Given the description of an element on the screen output the (x, y) to click on. 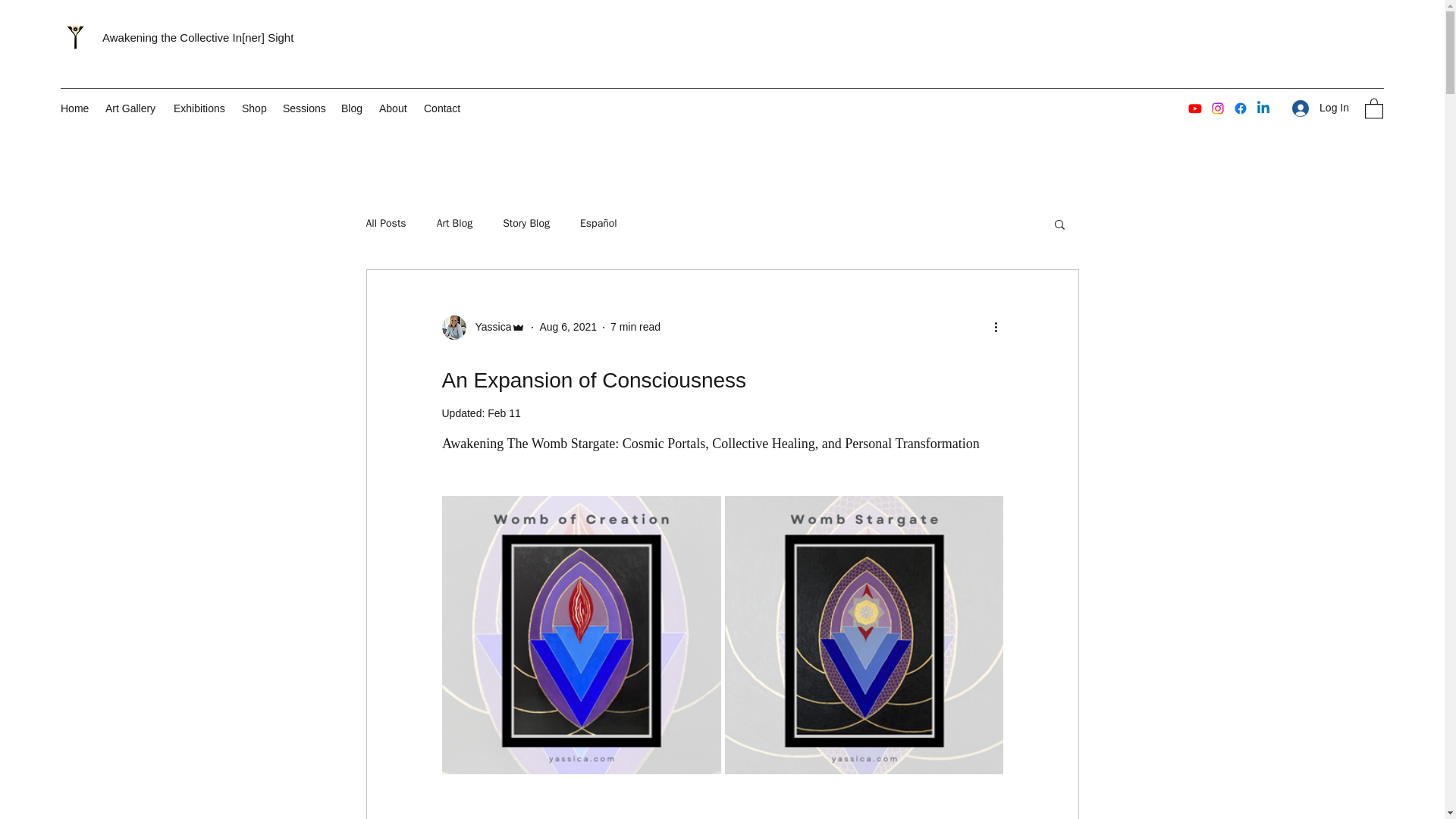
Aug 6, 2021 (567, 326)
All Posts (385, 223)
Exhibitions (199, 108)
Blog (352, 108)
Feb 11 (504, 413)
Home (74, 108)
Art Gallery (131, 108)
Yassica (483, 327)
Story Blog (526, 223)
Log In (1320, 108)
